Given the description of an element on the screen output the (x, y) to click on. 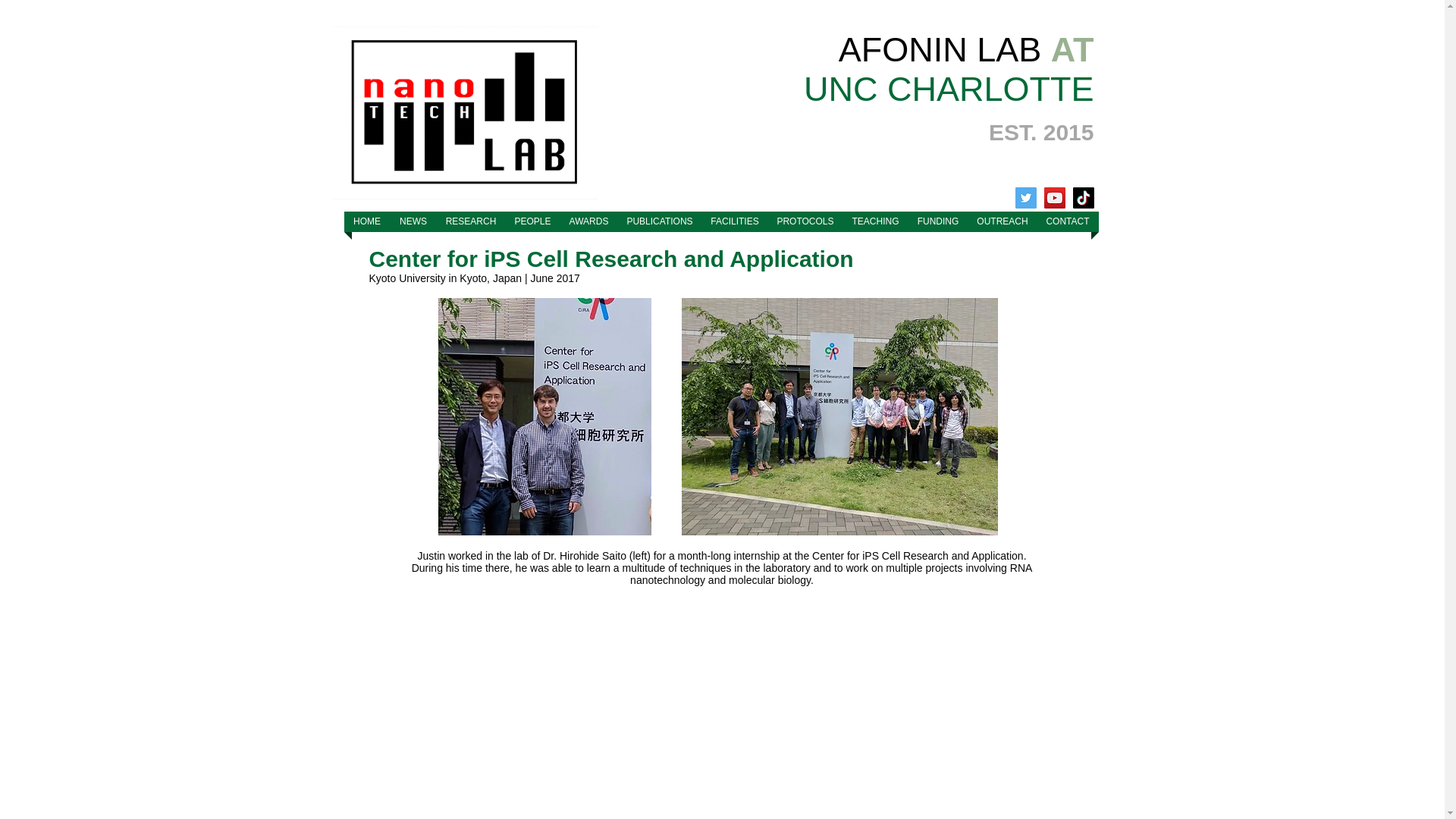
PEOPLE (532, 221)
TEACHING (875, 221)
AWARDS (588, 221)
PUBLICATIONS (659, 221)
RESEARCH (470, 221)
FACILITIES (734, 221)
HOME (366, 221)
NEWS (412, 221)
Dr. Hirohide Saito (584, 555)
OUTREACH (1002, 221)
